Given the description of an element on the screen output the (x, y) to click on. 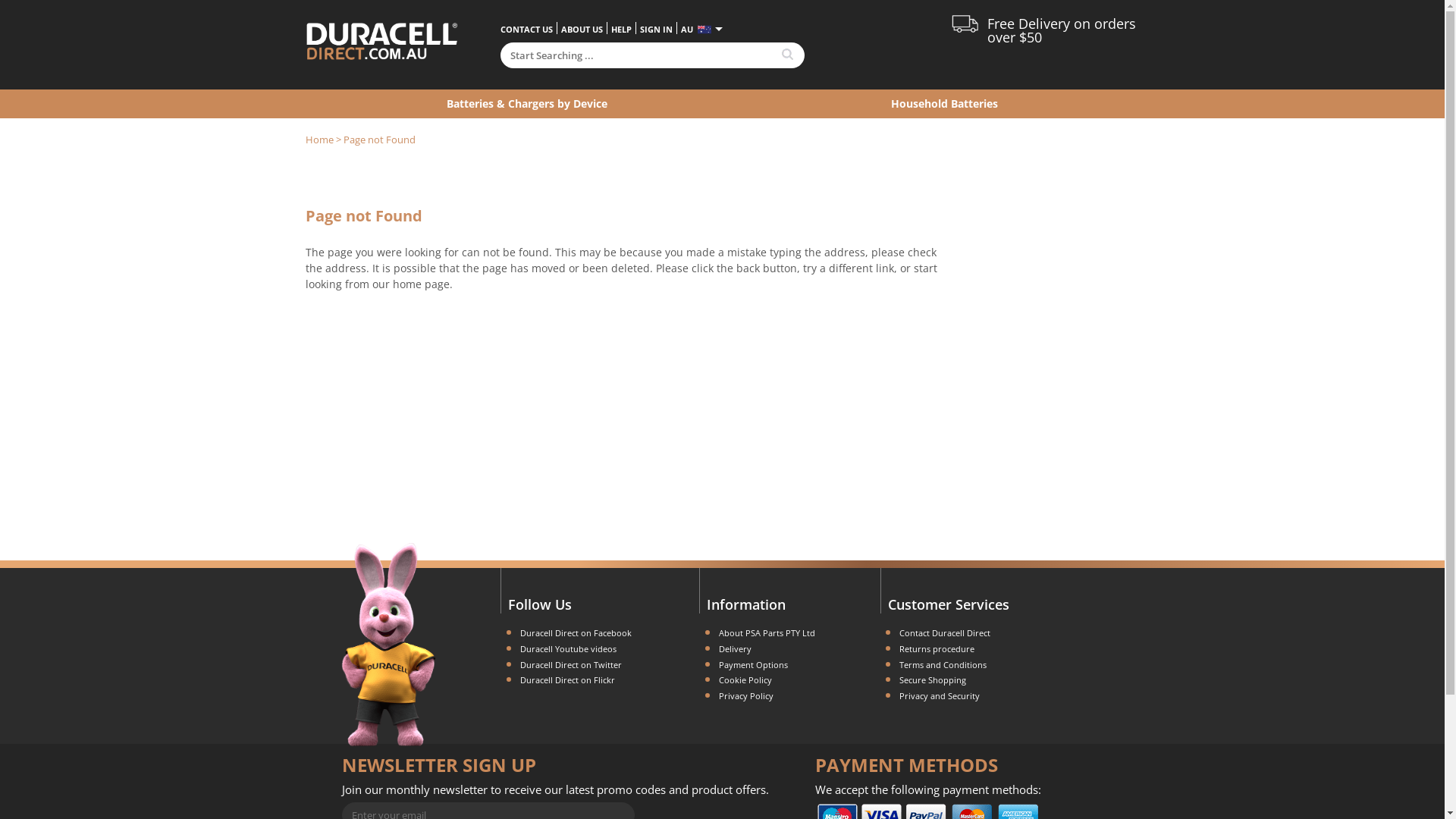
HELP Element type: text (621, 28)
Secure Shopping Element type: text (932, 679)
Home Element type: text (318, 139)
Duracell Youtube videos Element type: text (568, 648)
Duracell Direct on Facebook Element type: text (575, 632)
ABOUT US Element type: text (581, 28)
Privacy Policy Element type: text (745, 695)
Duracell Direct on Twitter Element type: text (570, 664)
About PSA Parts PTY Ltd Element type: text (766, 632)
Household Batteries Element type: text (944, 103)
SIGN IN Element type: text (656, 28)
Cookie Policy Element type: text (744, 679)
Duracell Direct on Flickr Element type: text (567, 679)
Delivery Element type: text (734, 648)
Returns procedure Element type: text (936, 648)
CONTACT US Element type: text (526, 28)
  Element type: text (789, 54)
Free Delivery on orders over $50 Element type: text (1061, 30)
Payment Options Element type: text (752, 664)
Terms and Conditions Element type: text (942, 664)
Contact Duracell Direct Element type: text (944, 632)
Batteries & Chargers by Device Element type: text (526, 103)
Privacy and Security Element type: text (939, 695)
